Given the description of an element on the screen output the (x, y) to click on. 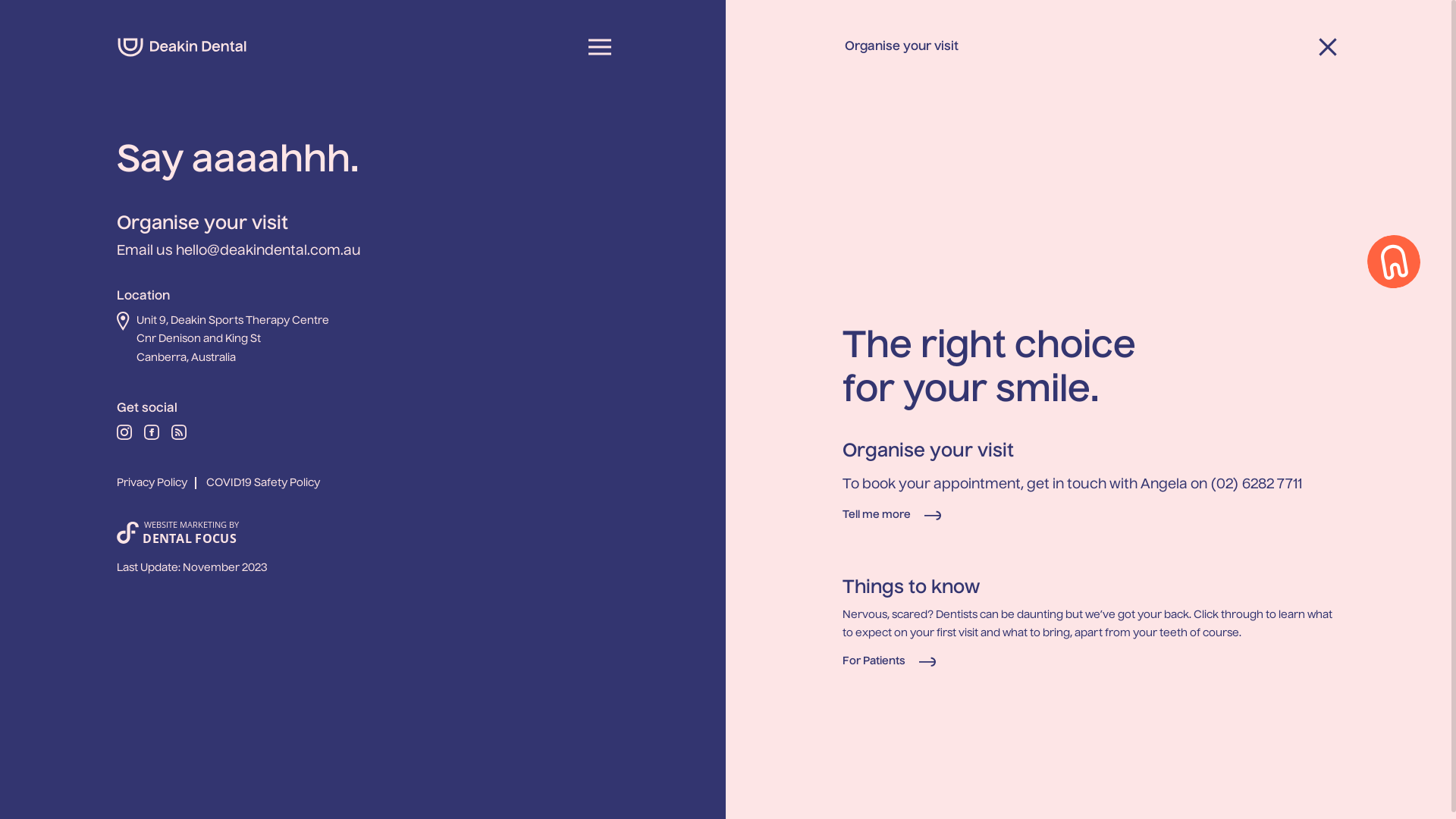
(02) 6282 7711 Element type: text (1256, 484)
Tell me more Element type: text (893, 514)
Privacy Policy Element type: text (159, 482)
DENTAL FOCUS Element type: text (189, 538)
Instagram Element type: hover (123, 435)
WEBSITE MARKETING Element type: text (185, 524)
COVID19 Safety Policy Element type: text (263, 482)
For Patients Element type: text (890, 661)
Facebook Element type: hover (151, 435)
Blog Element type: hover (178, 435)
hello@deakindental.com.au Element type: text (267, 250)
